Given the description of an element on the screen output the (x, y) to click on. 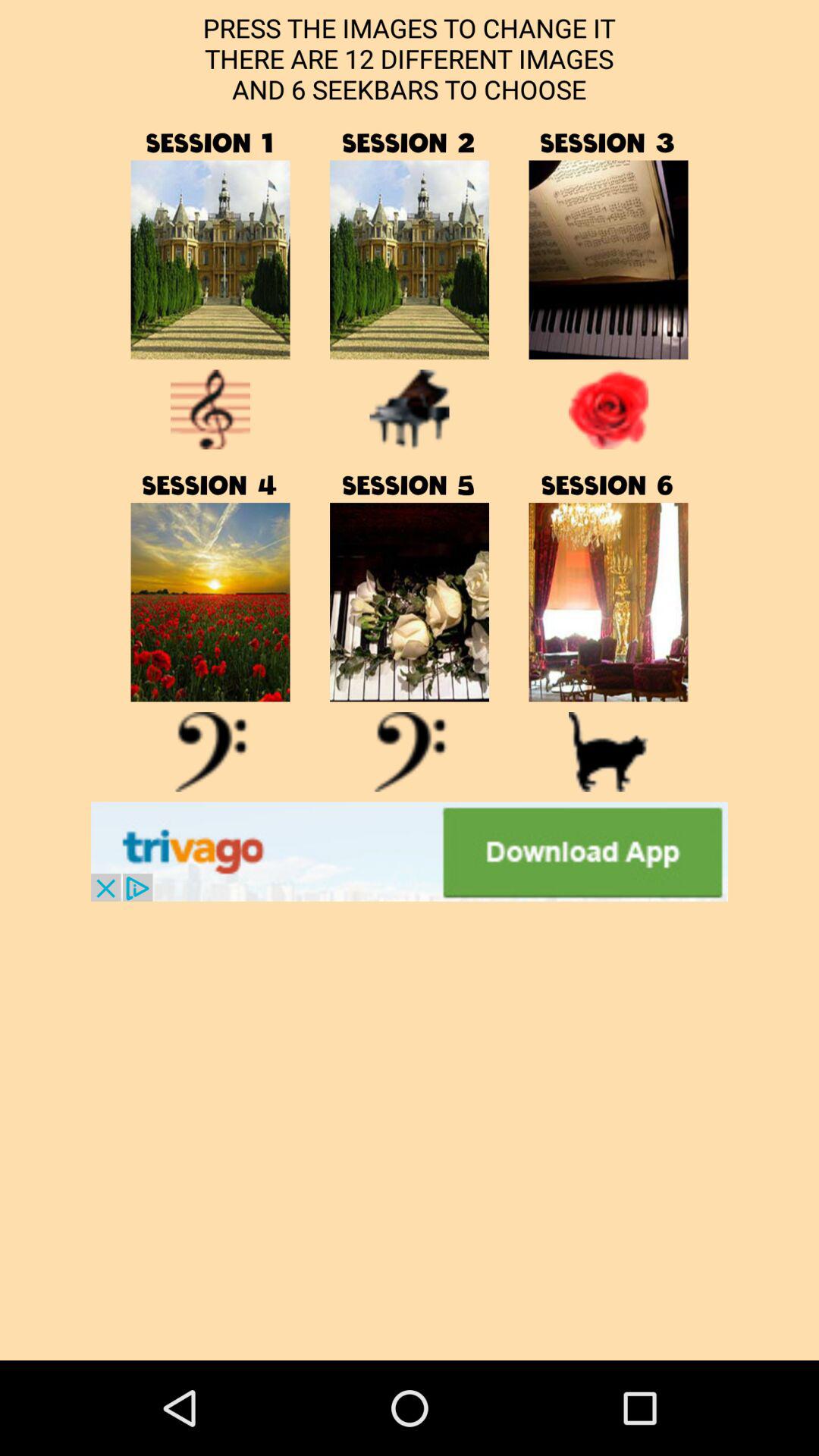
open (608, 601)
